Given the description of an element on the screen output the (x, y) to click on. 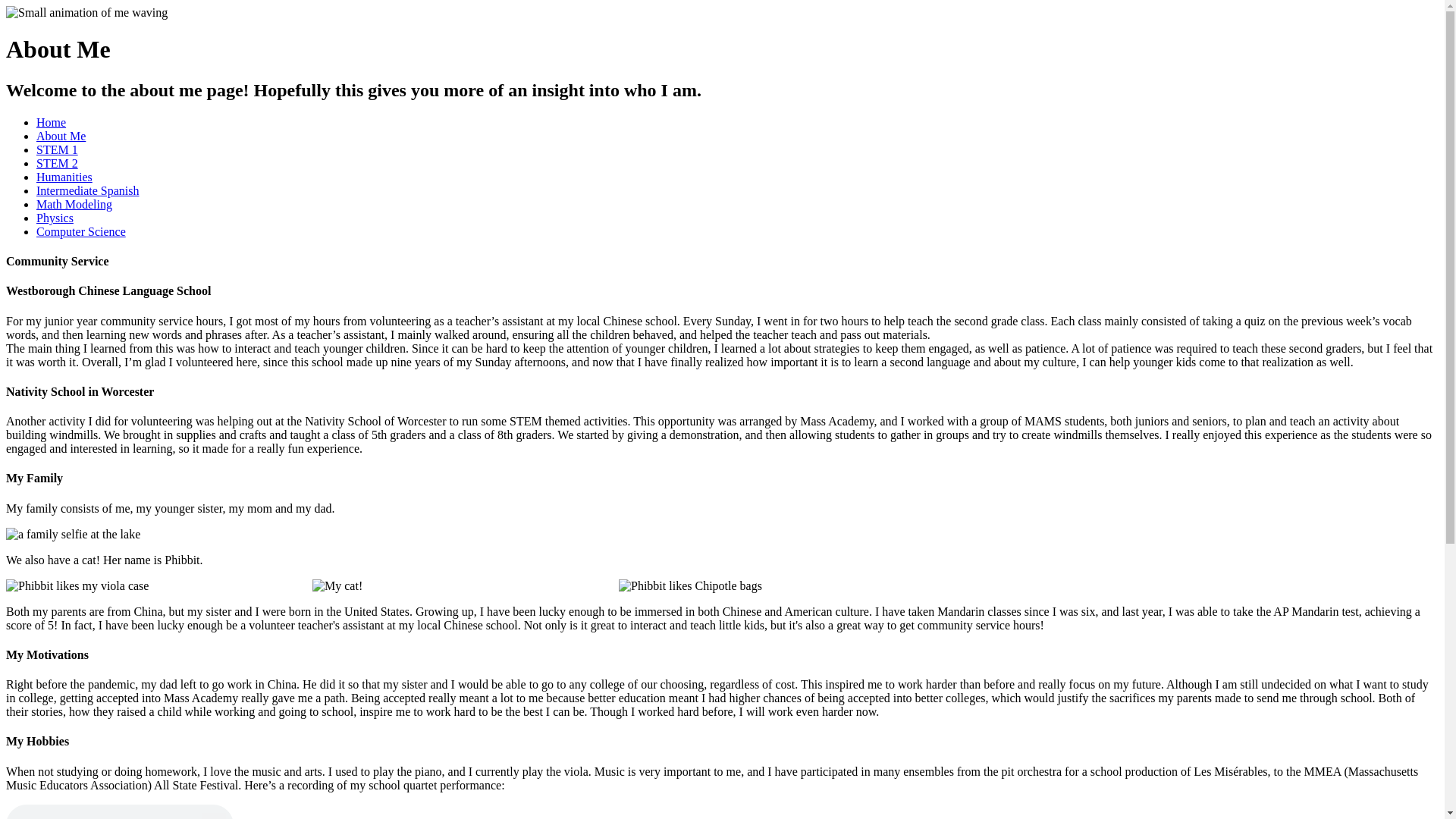
Physics (55, 217)
Home (50, 122)
STEM 1 (57, 149)
About Me (60, 135)
Intermediate Spanish (87, 190)
Math Modeling (74, 204)
Humanities (64, 176)
STEM 2 (57, 163)
Computer Science (80, 231)
